Given the description of an element on the screen output the (x, y) to click on. 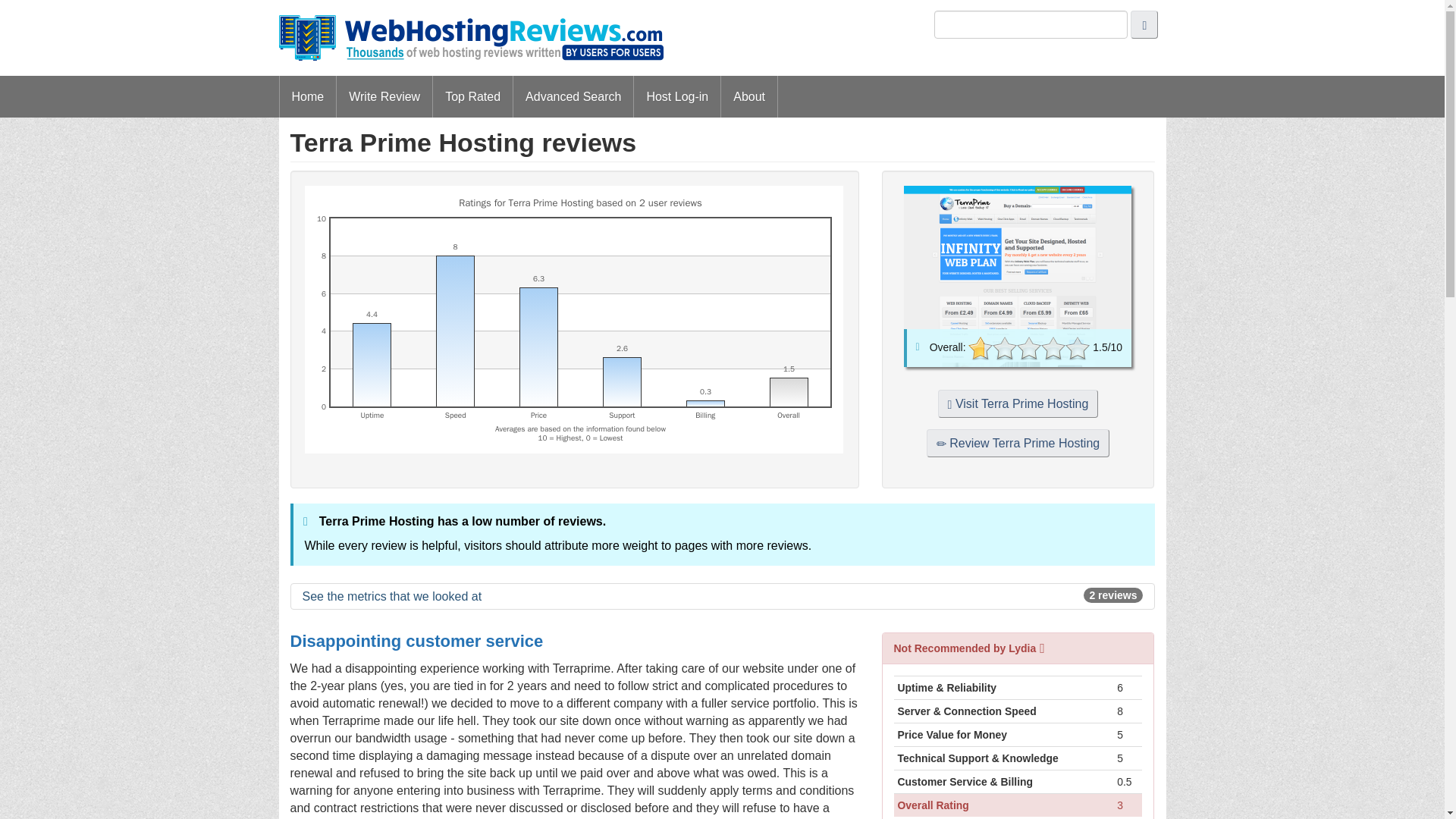
Advanced Search (572, 96)
Review Terra Prime Hosting (1017, 443)
Skip to main content (725, 11)
Host Log-in (676, 96)
Top Rated (472, 96)
Home (307, 96)
Write Review (384, 96)
About (748, 96)
Search (1144, 24)
Visit Terra Prime Hosting (1018, 403)
